Given the description of an element on the screen output the (x, y) to click on. 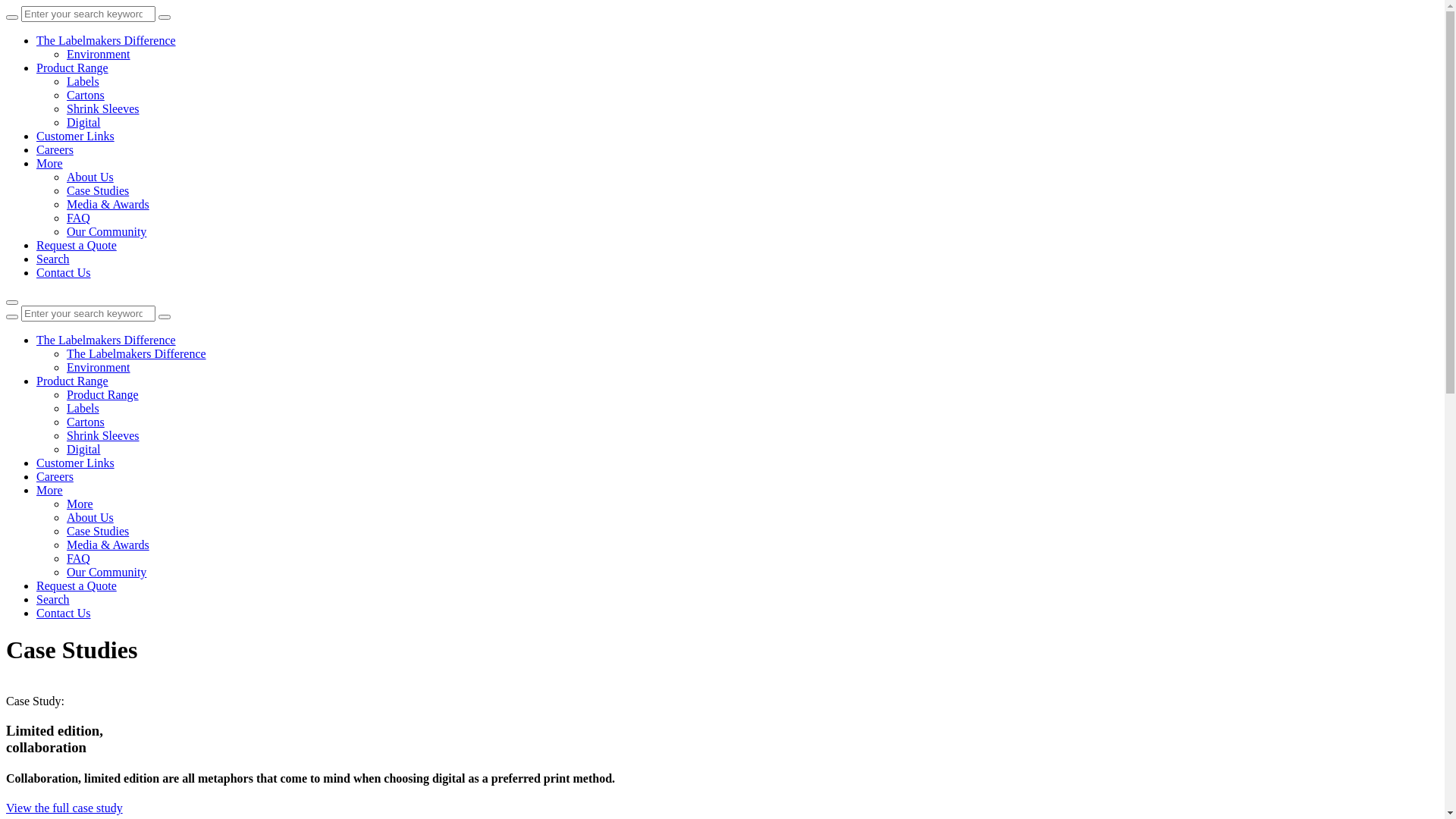
Case Studies Element type: text (97, 190)
Contact Us Element type: text (63, 272)
About Us Element type: text (89, 517)
Shrink Sleeves Element type: text (102, 108)
Customer Links Element type: text (75, 135)
Environment Element type: text (98, 366)
Environment Element type: text (98, 53)
FAQ Element type: text (78, 217)
Search Element type: text (52, 599)
Case Studies Element type: text (97, 530)
Media & Awards Element type: text (107, 203)
Careers Element type: text (54, 476)
Request a Quote Element type: text (76, 585)
Customer Links Element type: text (75, 462)
Product Range Element type: text (72, 67)
Digital Element type: text (83, 122)
The Labelmakers Difference Element type: text (105, 339)
More Element type: text (79, 503)
Product Range Element type: text (102, 394)
Request a Quote Element type: text (76, 244)
Shrink Sleeves Element type: text (102, 435)
Product Range Element type: text (72, 380)
The Labelmakers Difference Element type: text (136, 353)
View the full case study Element type: text (64, 807)
Our Community Element type: text (106, 231)
Cartons Element type: text (85, 94)
Cartons Element type: text (85, 421)
Our Community Element type: text (106, 571)
Search Element type: text (52, 258)
Digital Element type: text (83, 448)
Careers Element type: text (54, 149)
The Labelmakers Difference Element type: text (105, 40)
More Element type: text (49, 489)
More Element type: text (49, 162)
Labels Element type: text (82, 81)
Media & Awards Element type: text (107, 544)
FAQ Element type: text (78, 558)
About Us Element type: text (89, 176)
Contact Us Element type: text (63, 612)
Labels Element type: text (82, 407)
